Given the description of an element on the screen output the (x, y) to click on. 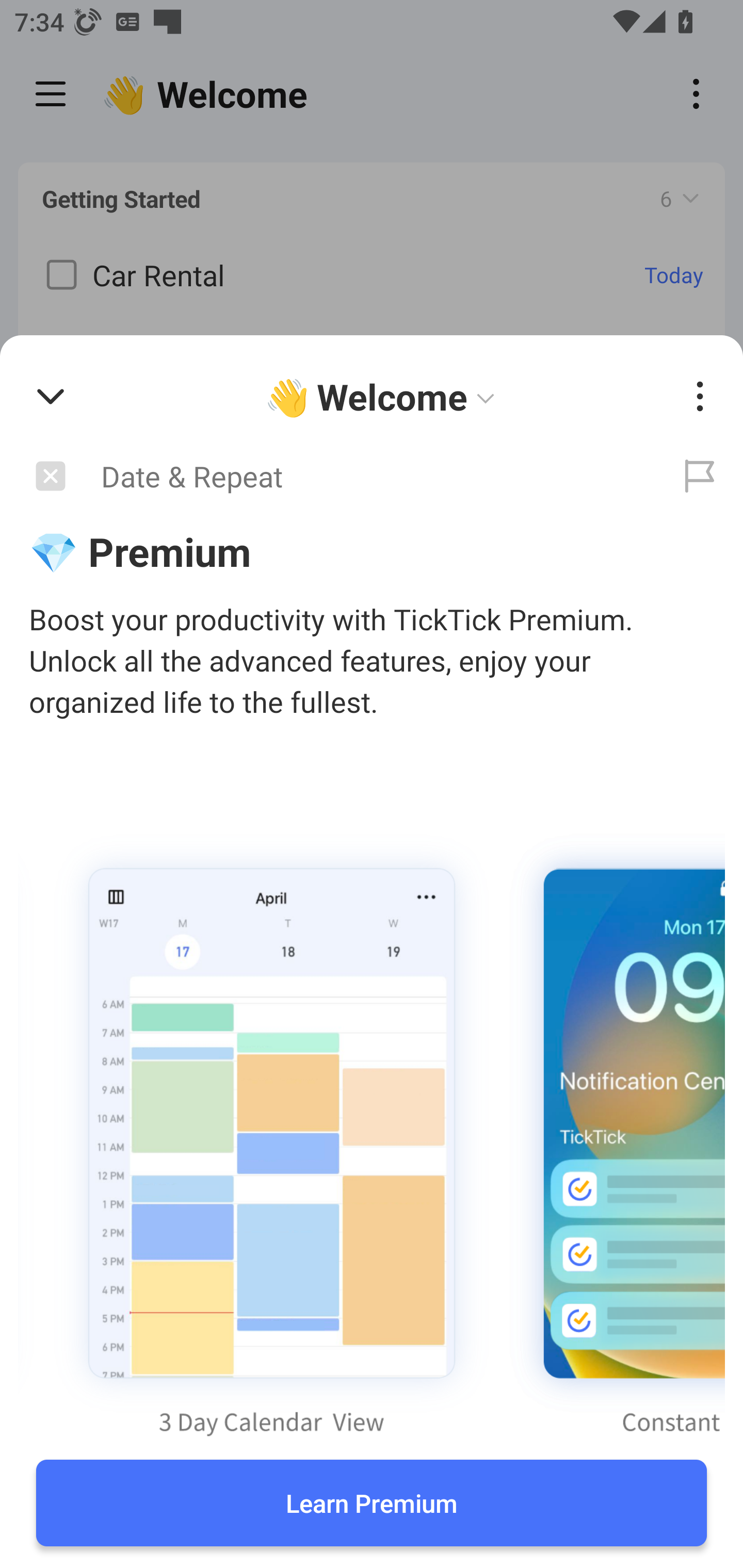
👋 Welcome (384, 396)
Date & Repeat (328, 476)
💎 Premium (371, 551)
Learn Premium (371, 1502)
